Given the description of an element on the screen output the (x, y) to click on. 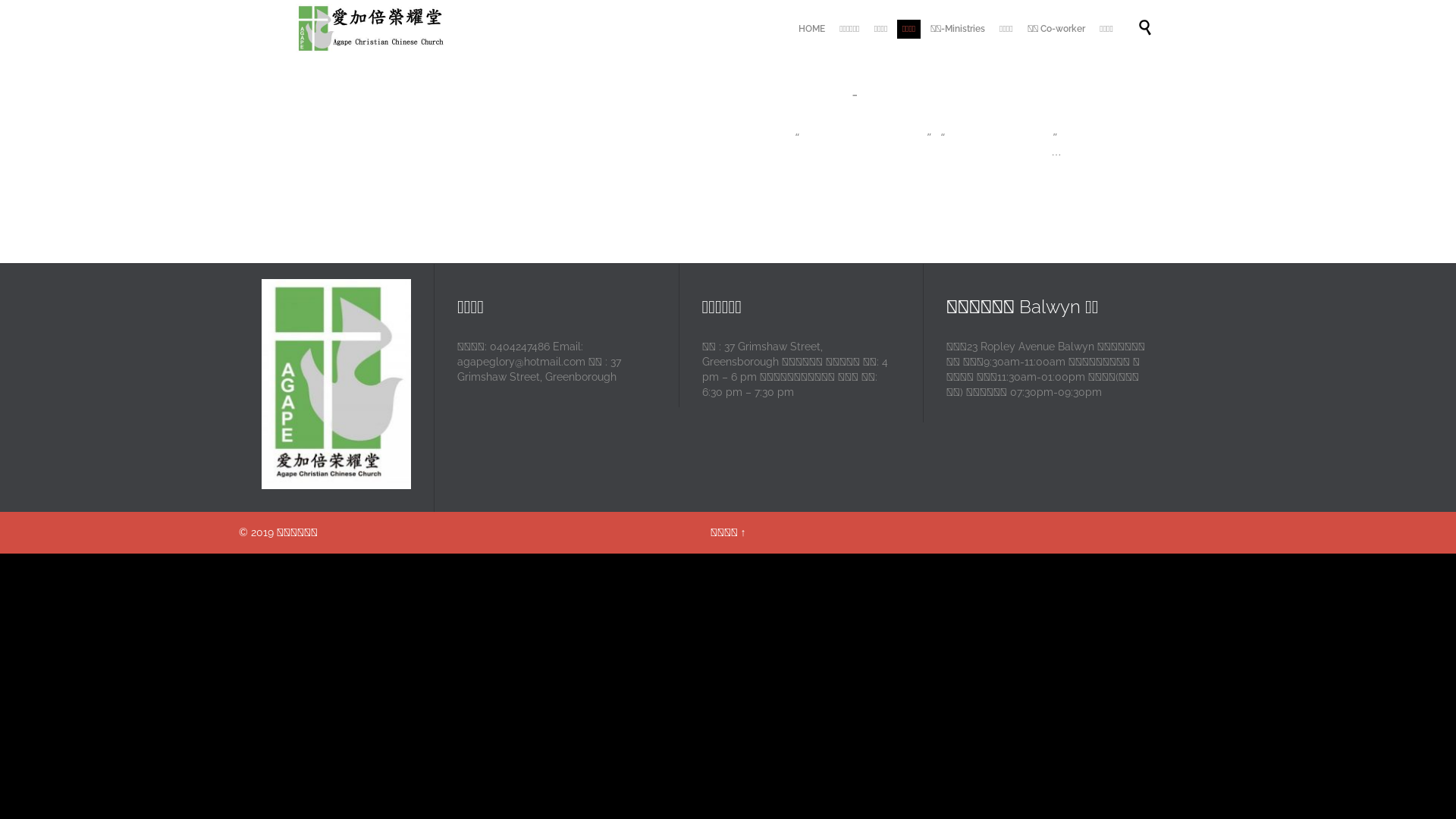
HOME Element type: text (811, 28)
Skip to content Element type: text (1121, 12)
